Given the description of an element on the screen output the (x, y) to click on. 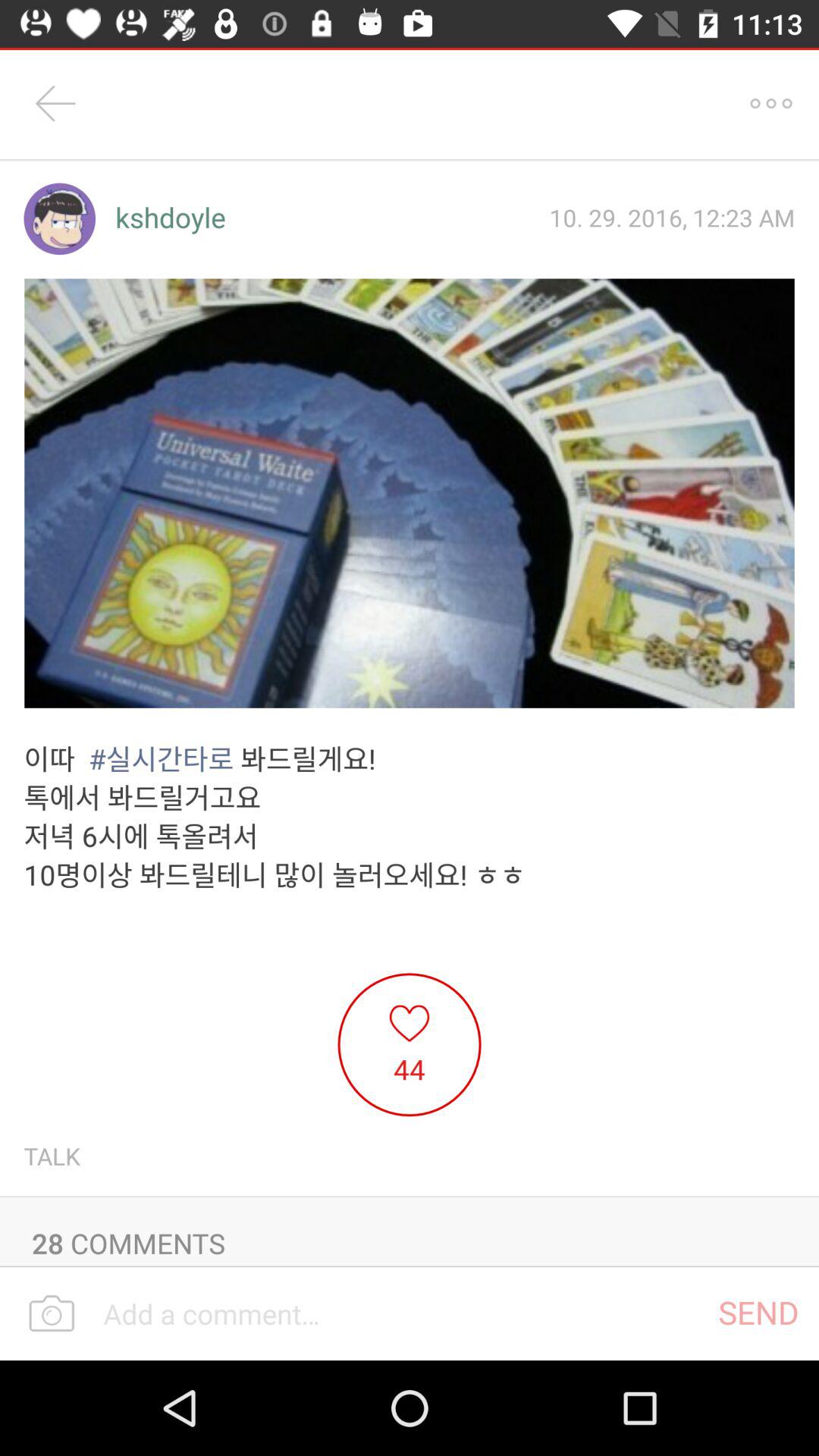
take a photo (51, 1314)
